Given the description of an element on the screen output the (x, y) to click on. 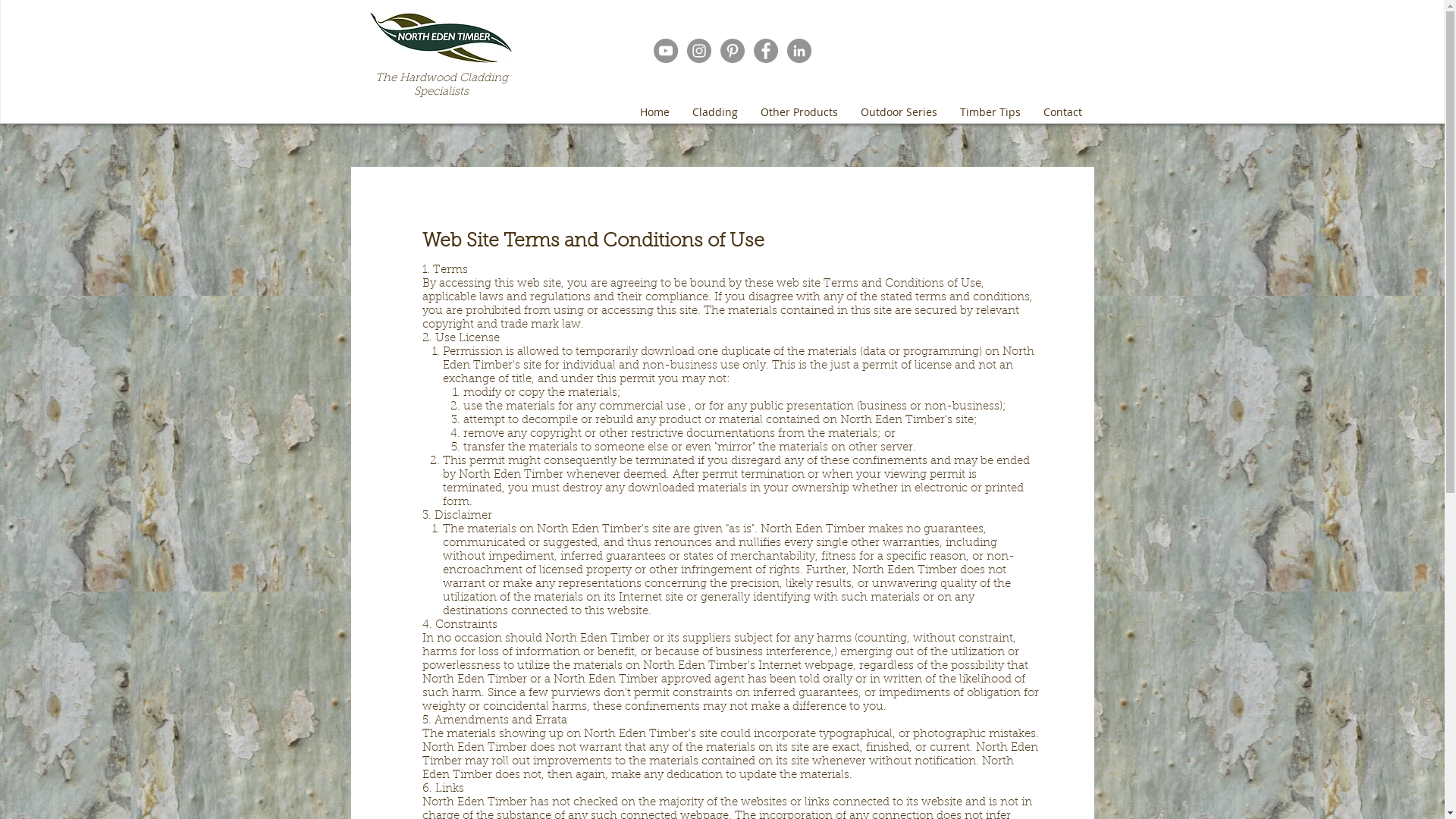
Cladding Element type: text (714, 111)
Timber Tips Element type: text (989, 111)
North Eden Timber Element type: hover (440, 37)
Contact Element type: text (1061, 111)
Other Products Element type: text (799, 111)
Outdoor Series Element type: text (898, 111)
Home Element type: text (653, 111)
